Given the description of an element on the screen output the (x, y) to click on. 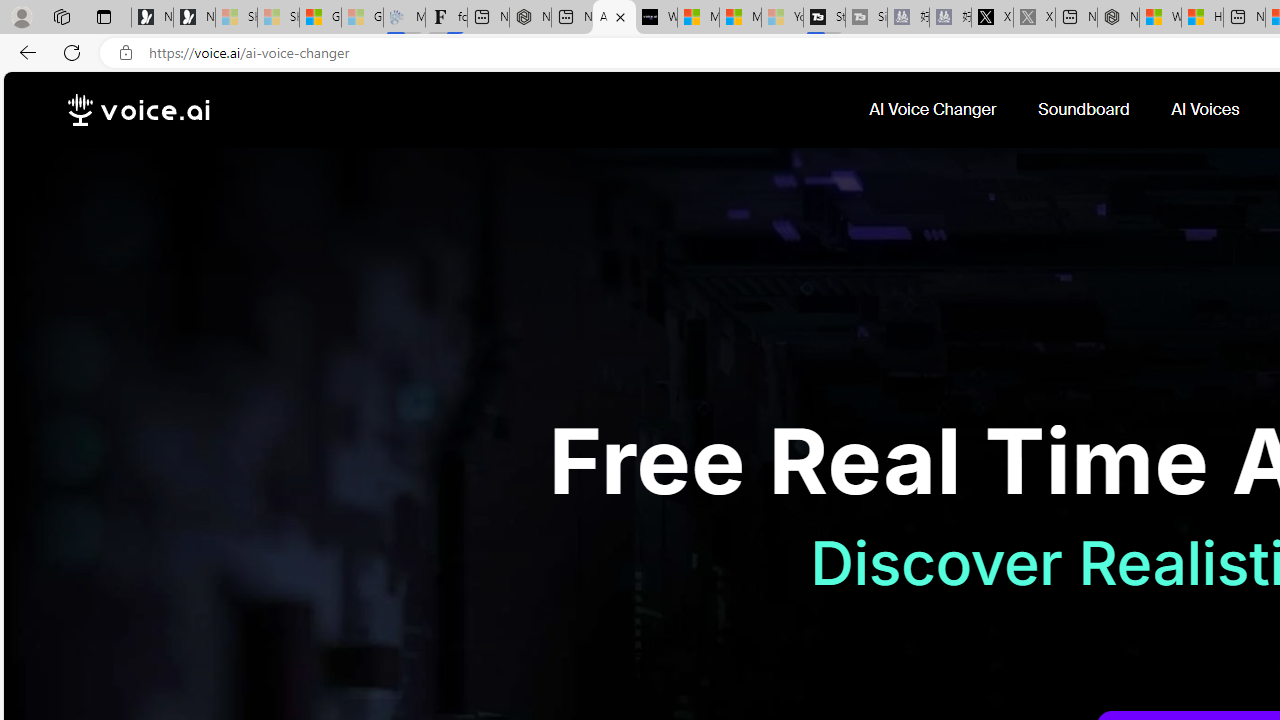
voice.ai (138, 109)
AI Voices  (1207, 109)
